Given the description of an element on the screen output the (x, y) to click on. 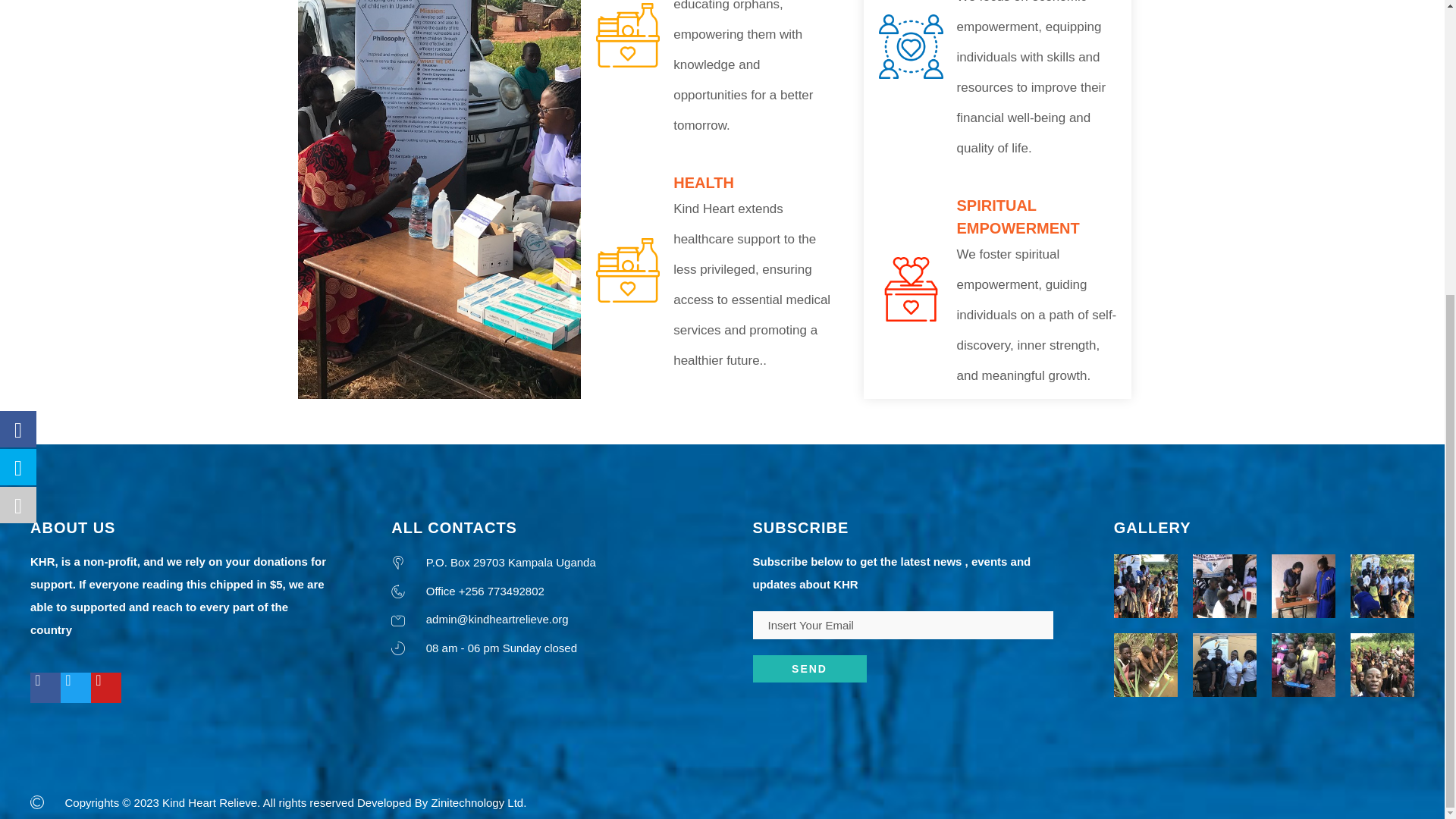
SPIRITUAL EMPOWERMENT (1018, 216)
HEALTH (702, 182)
SEND (809, 668)
